Given the description of an element on the screen output the (x, y) to click on. 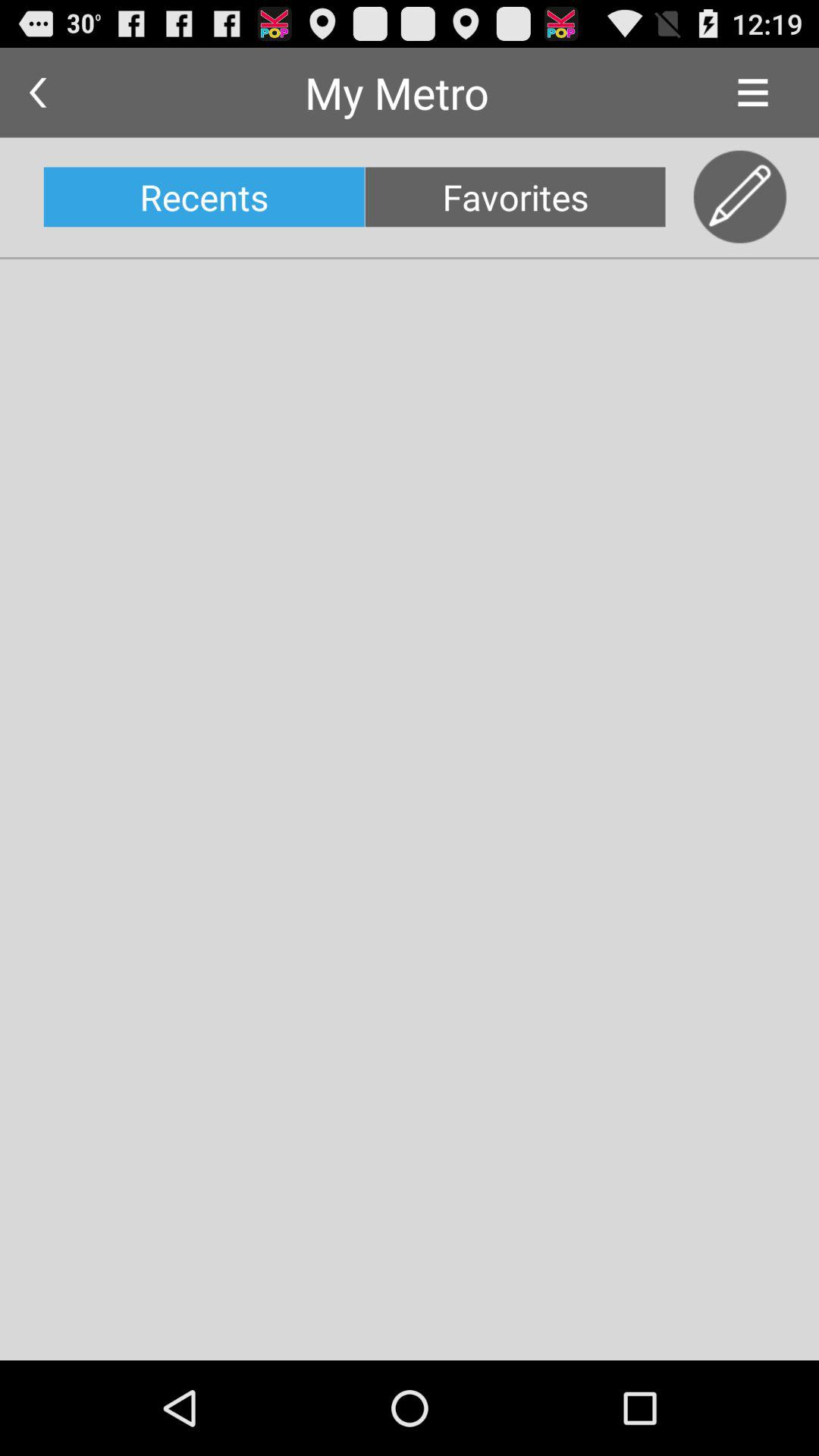
press the item next to the recents icon (515, 196)
